Given the description of an element on the screen output the (x, y) to click on. 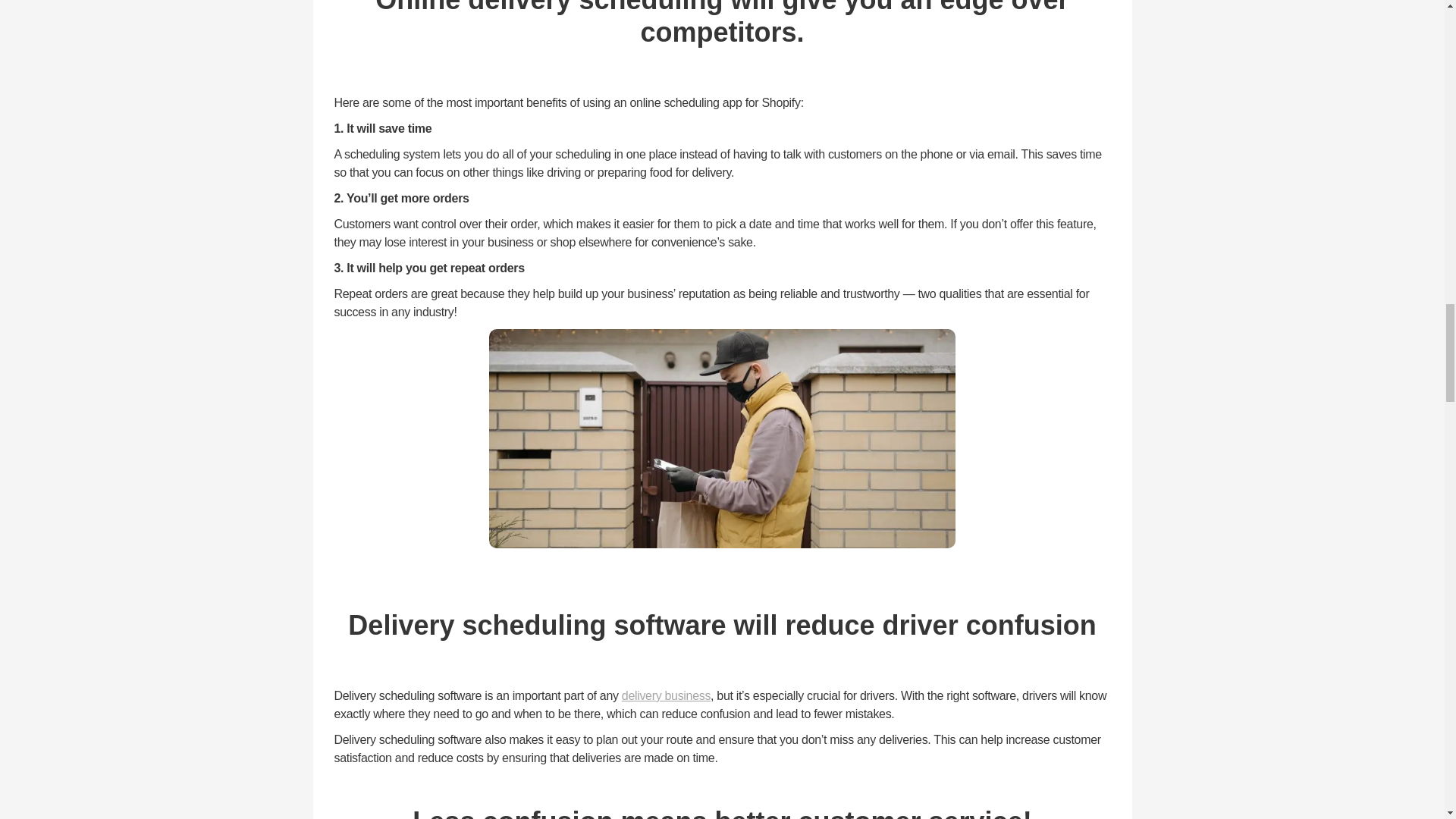
delivery business (665, 695)
